Given the description of an element on the screen output the (x, y) to click on. 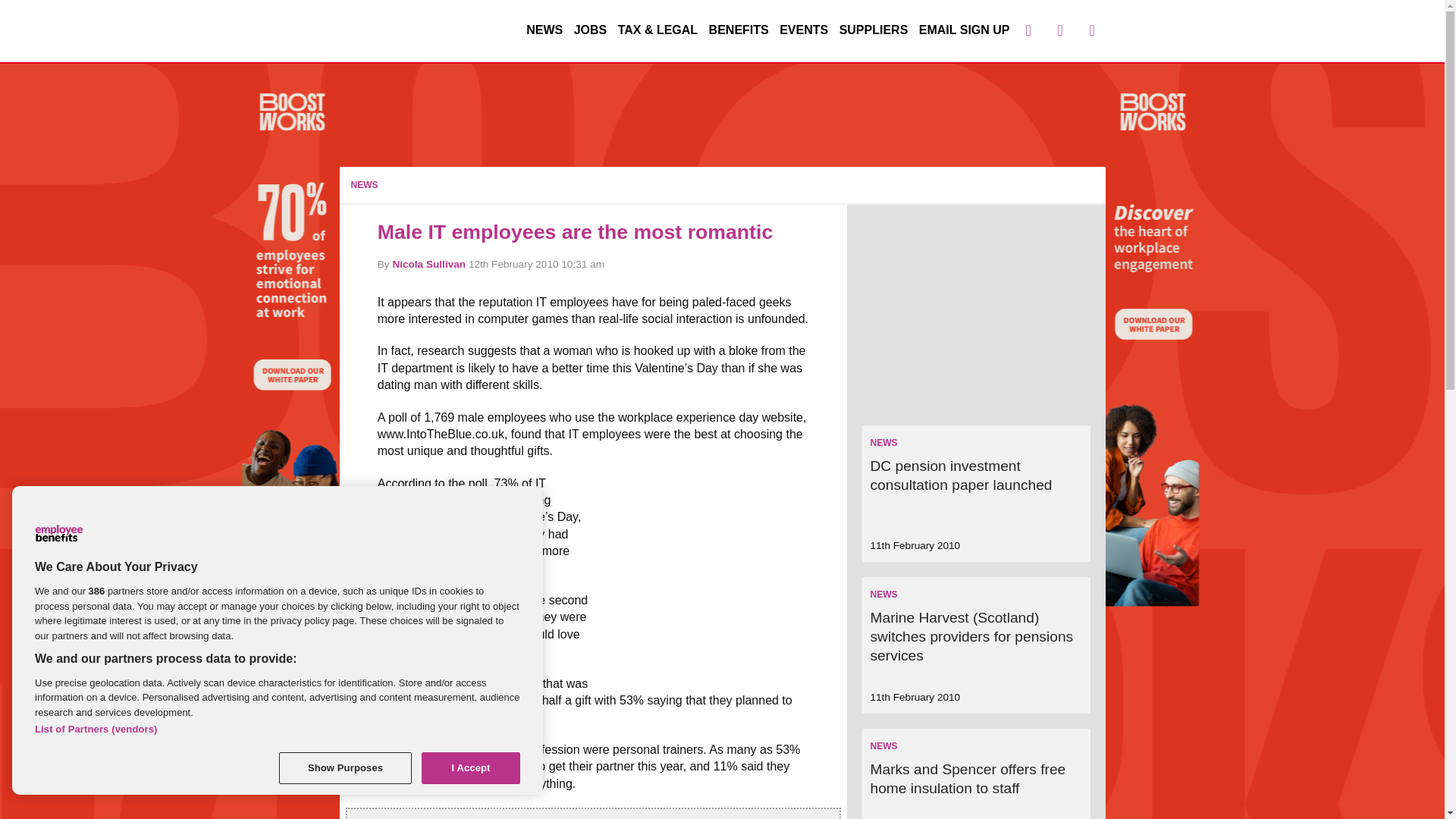
NEWS (882, 746)
NEWS (543, 29)
BENEFITS (738, 29)
Posts by Nicola Sullivan (428, 264)
EMAIL SIGN UP (964, 29)
JOBS (590, 29)
NEWS (882, 442)
DC pension investment consultation paper launched (960, 475)
Nicola Sullivan (428, 264)
EVENTS (803, 29)
3rd party ad content (722, 112)
NEWS (363, 184)
Company Logo (58, 532)
3rd party ad content (717, 570)
